Given the description of an element on the screen output the (x, y) to click on. 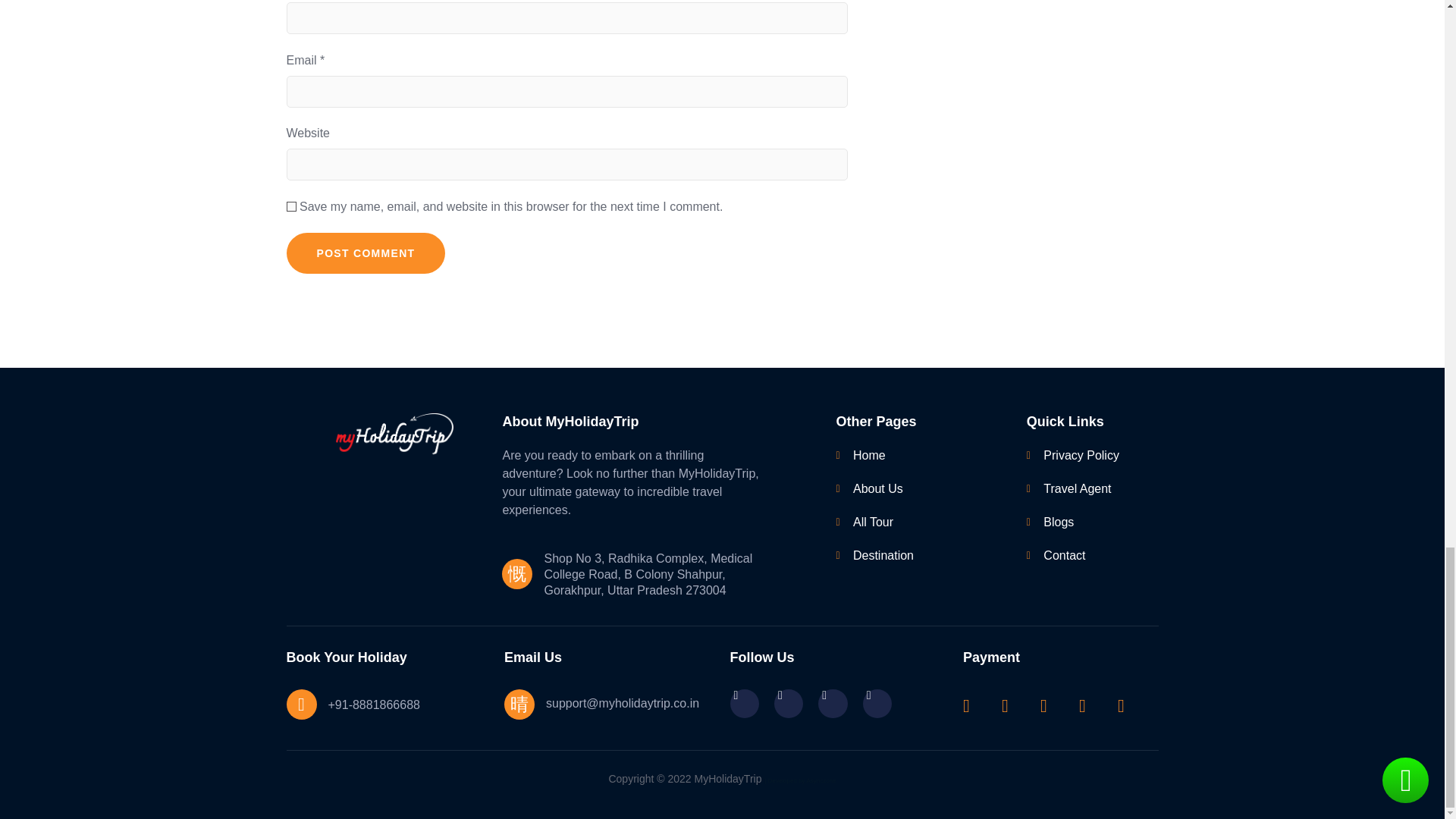
Destination (907, 556)
Contact (1082, 556)
Home (907, 455)
Travel Agent (1082, 488)
About Us (907, 488)
All Tour (907, 522)
Post Comment (365, 252)
Blogs (1082, 522)
Post Comment (365, 252)
